Given the description of an element on the screen output the (x, y) to click on. 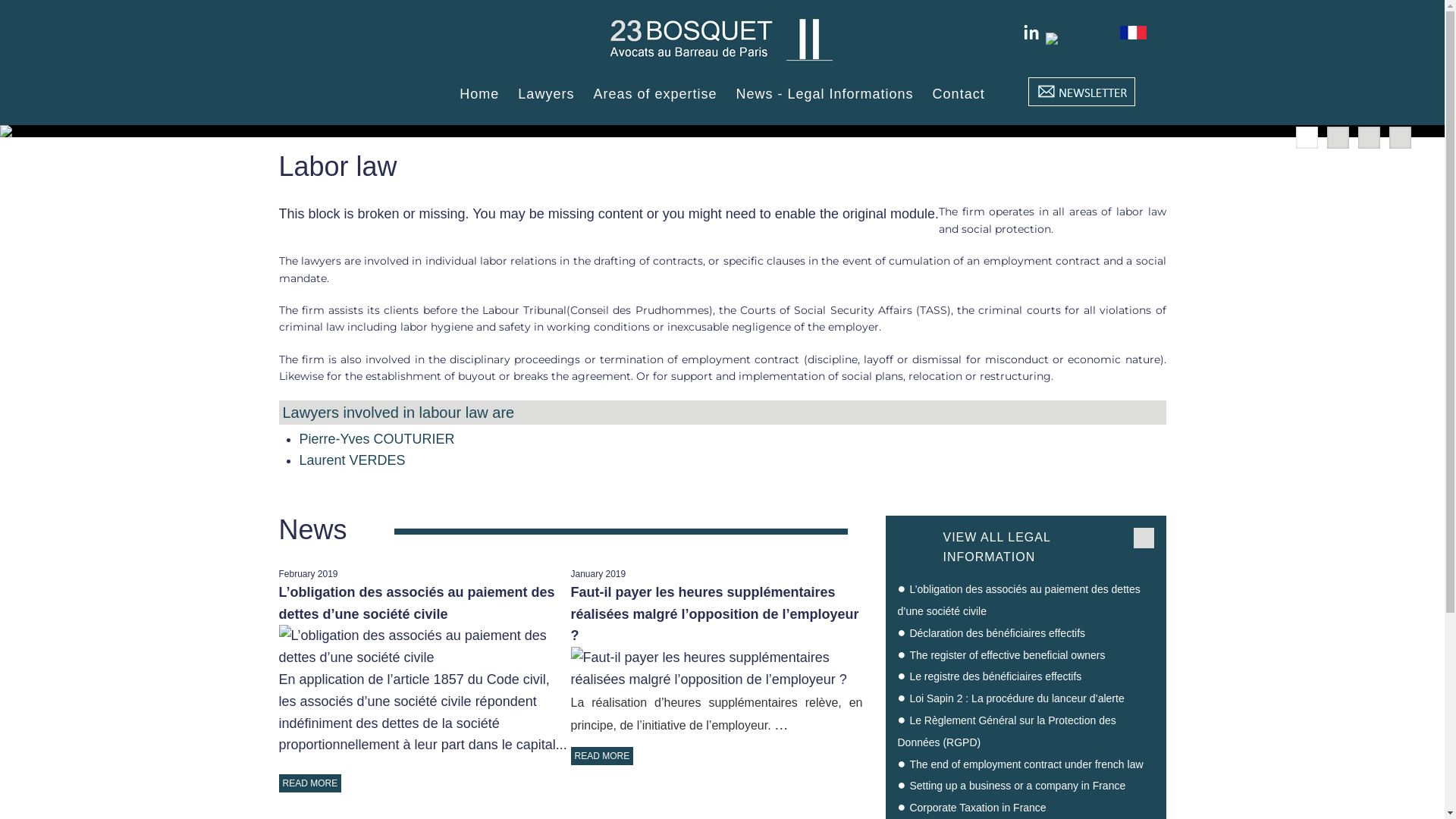
Lawyers Element type: text (545, 94)
4 Element type: text (1400, 137)
READ MORE Element type: text (310, 783)
Corporate Taxation in France Element type: text (977, 807)
Pierre-Yves COUTURIER Element type: text (376, 438)
Contact Element type: text (958, 94)
Setting up a business or a company in France Element type: text (1017, 785)
Areas of expertise Element type: text (654, 94)
The register of effective beneficial owners Element type: text (1006, 655)
READ MORE Element type: text (601, 755)
2 Element type: text (1338, 137)
The end of employment contract under french law Element type: text (1025, 764)
Home Element type: hover (721, 61)
Laurent VERDES Element type: text (351, 459)
3 Element type: text (1369, 137)
News - Legal Informations Element type: text (824, 94)
1 Element type: text (1306, 137)
Home Element type: text (478, 94)
